Given the description of an element on the screen output the (x, y) to click on. 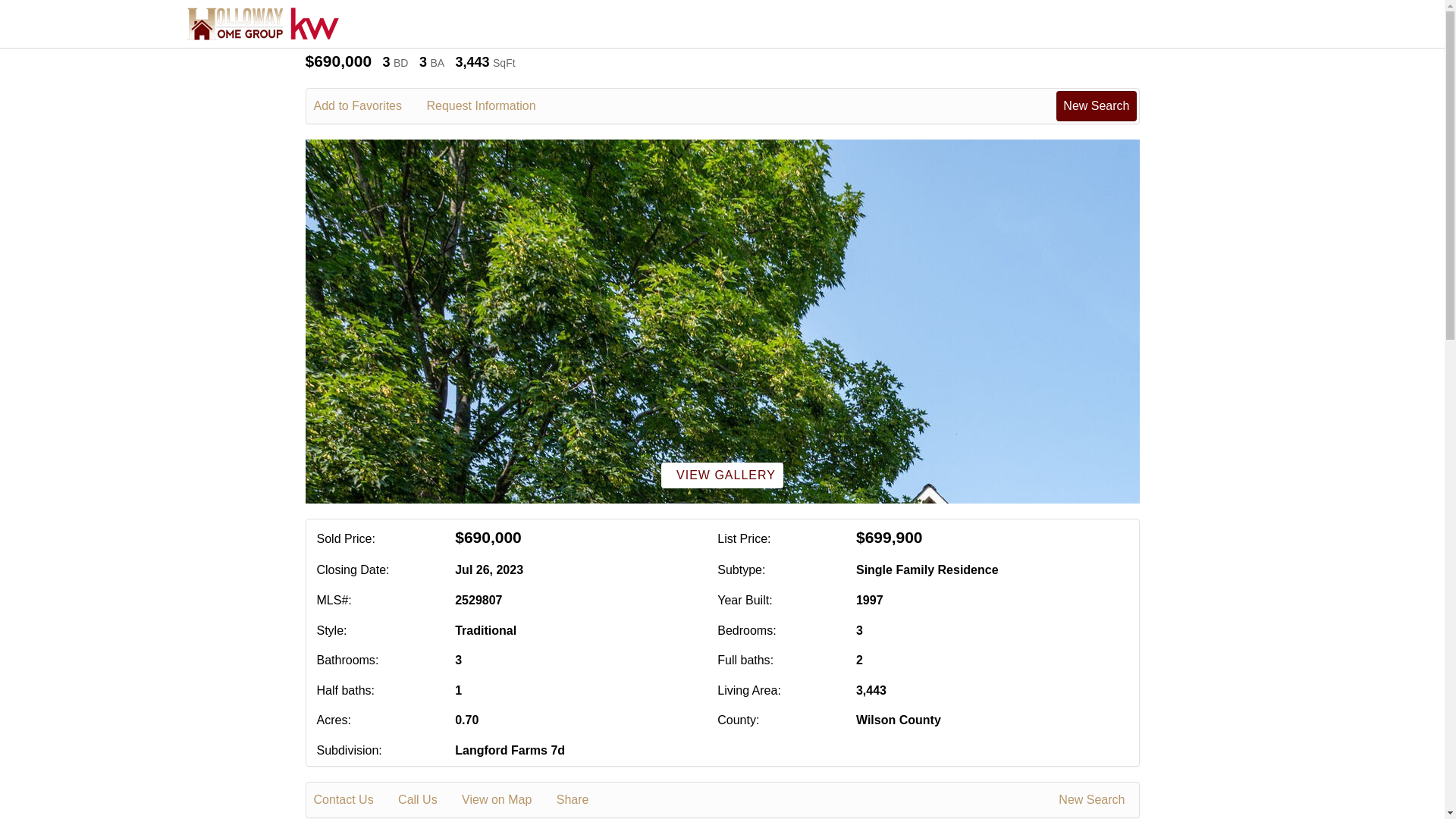
View on Map (507, 799)
Contact Us (354, 799)
VIEW GALLERY (722, 474)
Call Us (427, 799)
New Search (1096, 105)
Share (583, 799)
New Search (1094, 799)
Request Information (491, 106)
Add to Favorites (368, 106)
VIEW GALLERY (722, 475)
